Given the description of an element on the screen output the (x, y) to click on. 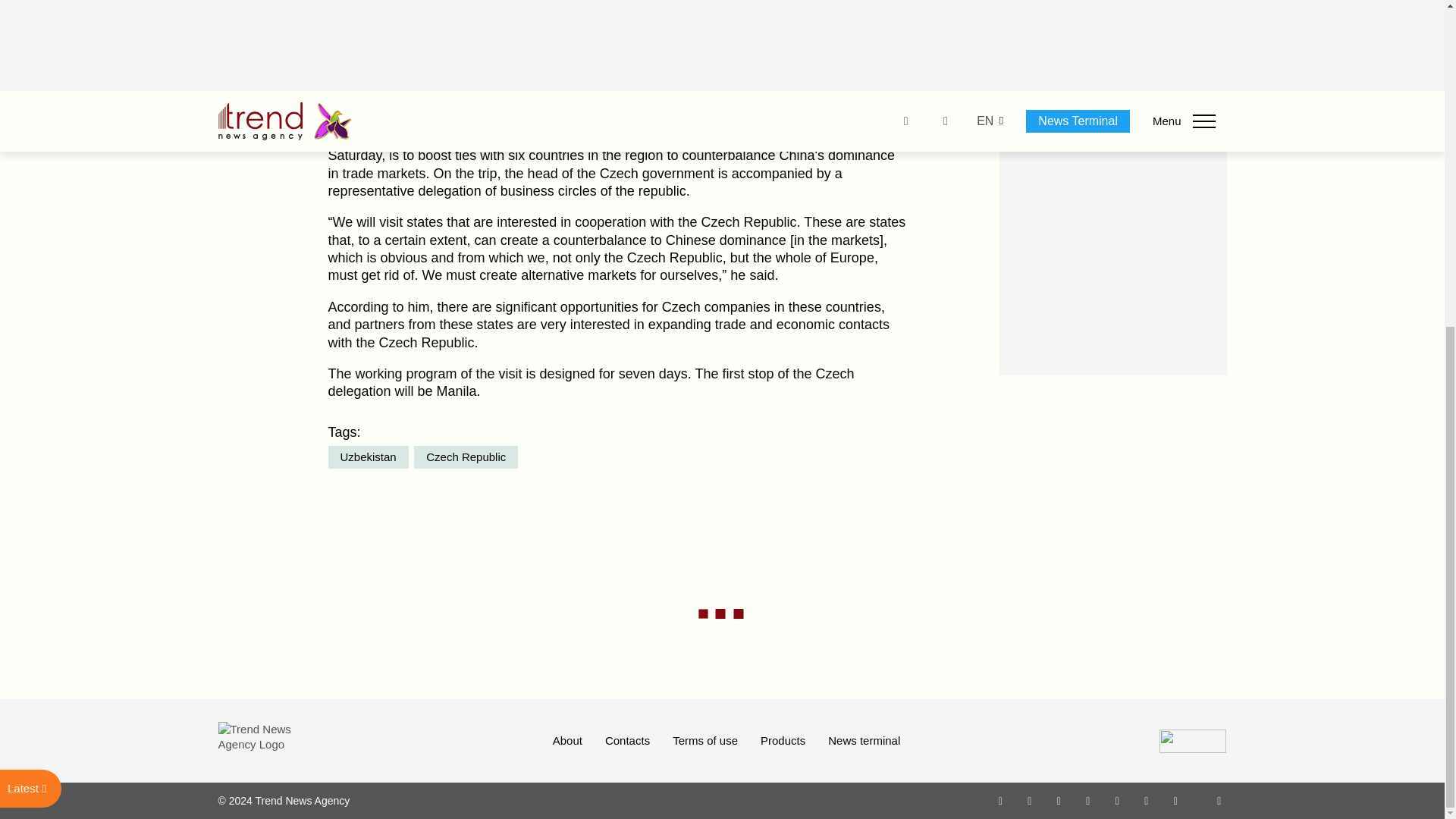
Android App (1176, 800)
Twitter (1059, 800)
Telegram (1117, 800)
Facebook (1029, 800)
Whatsapp (1000, 800)
RSS Feed (1219, 800)
Youtube (1088, 800)
LinkedIn (1146, 800)
